Given the description of an element on the screen output the (x, y) to click on. 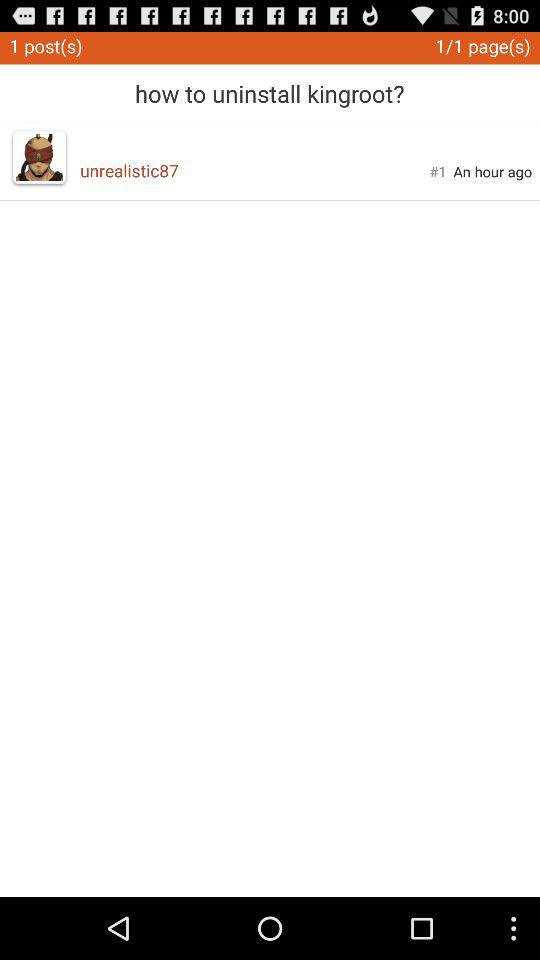
open the app to the left of the 1 1 page (269, 86)
